Given the description of an element on the screen output the (x, y) to click on. 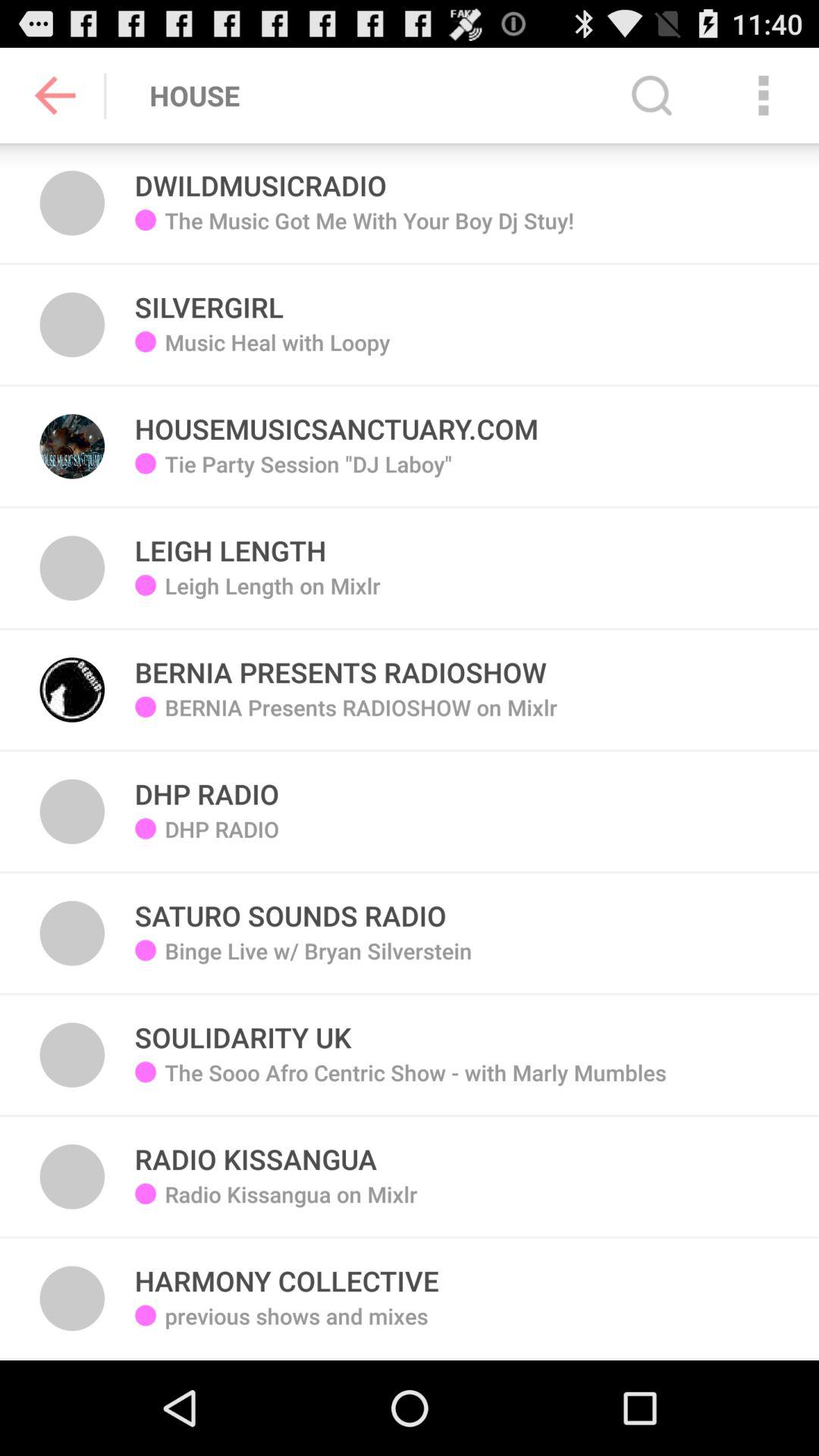
choose item below the binge live w app (242, 1029)
